Given the description of an element on the screen output the (x, y) to click on. 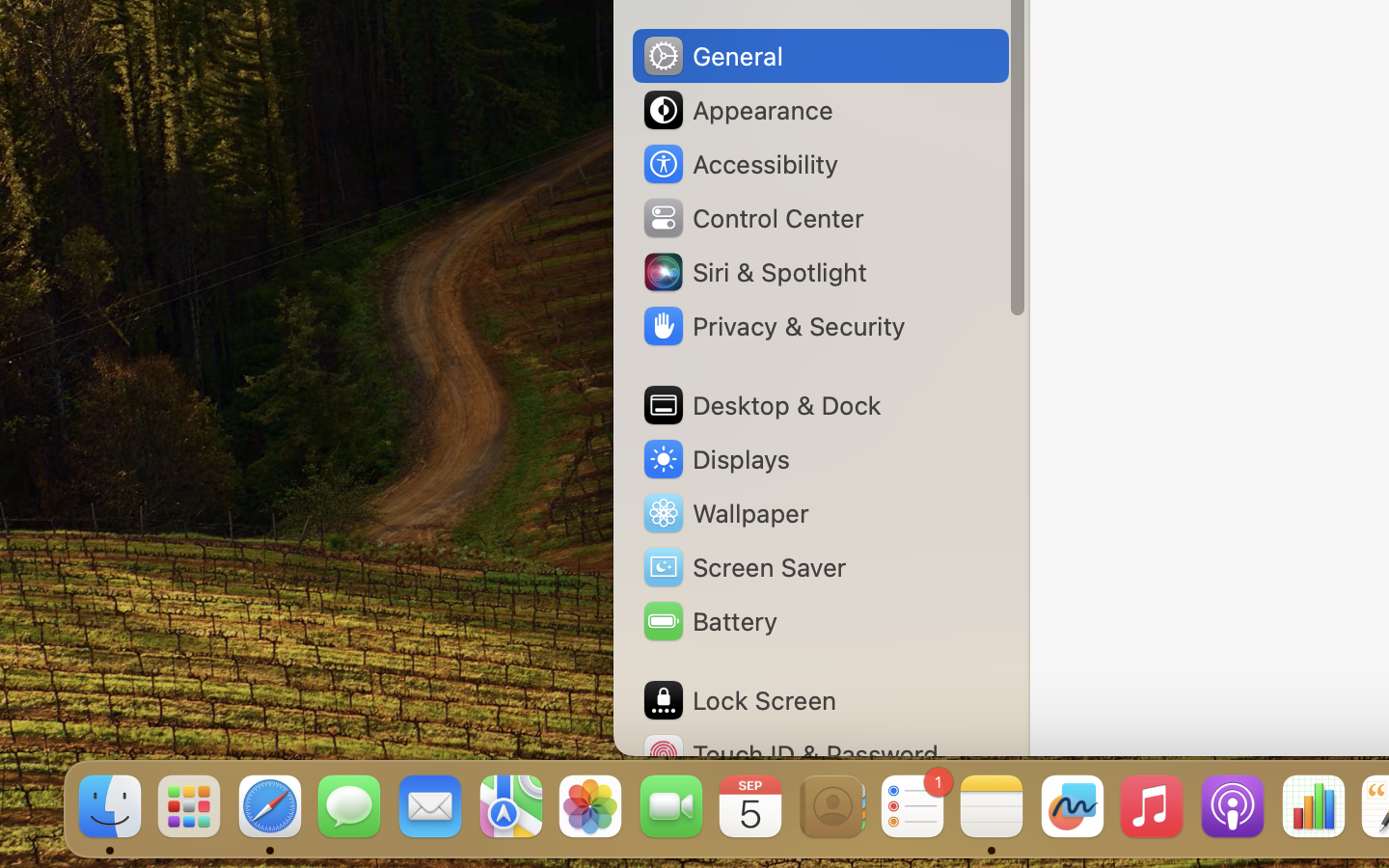
General Element type: AXStaticText (711, 55)
Appearance Element type: AXStaticText (736, 109)
Screen Saver Element type: AXStaticText (743, 566)
Displays Element type: AXStaticText (715, 458)
Wallpaper Element type: AXStaticText (724, 512)
